Given the description of an element on the screen output the (x, y) to click on. 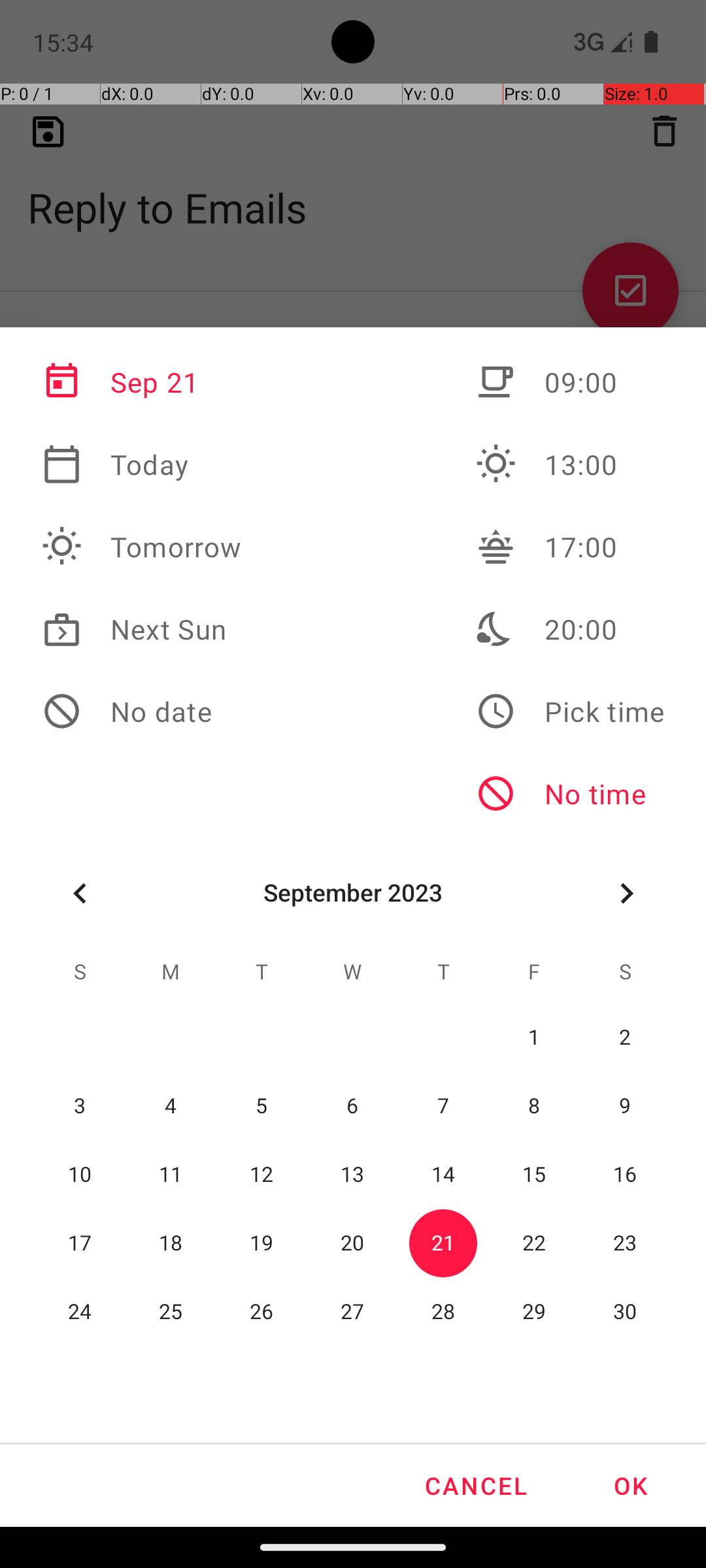
Sep 21 Element type: android.widget.CompoundButton (141, 382)
